Given the description of an element on the screen output the (x, y) to click on. 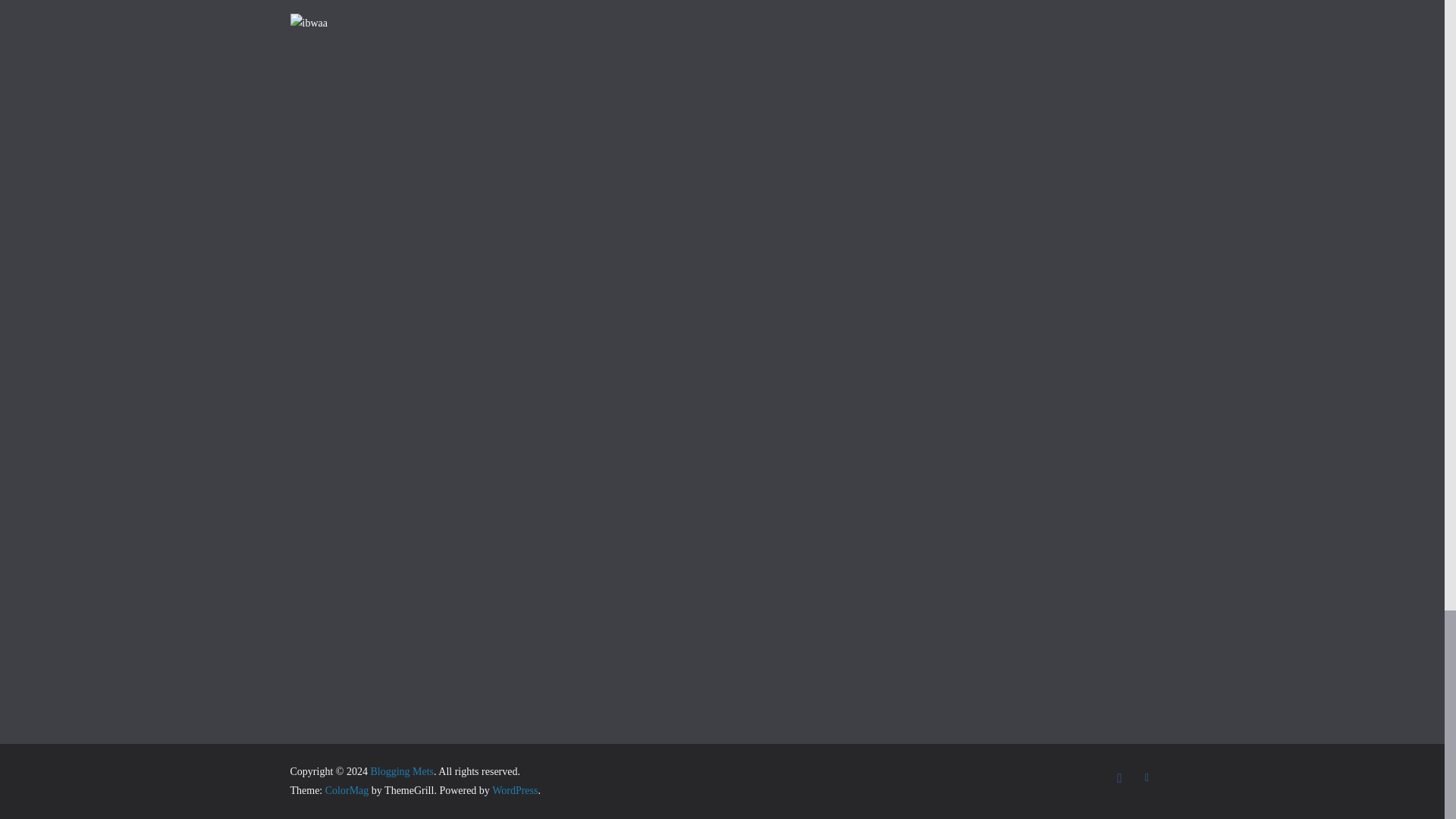
Blogging Mets (401, 771)
WordPress (514, 790)
ColorMag (346, 790)
